Given the description of an element on the screen output the (x, y) to click on. 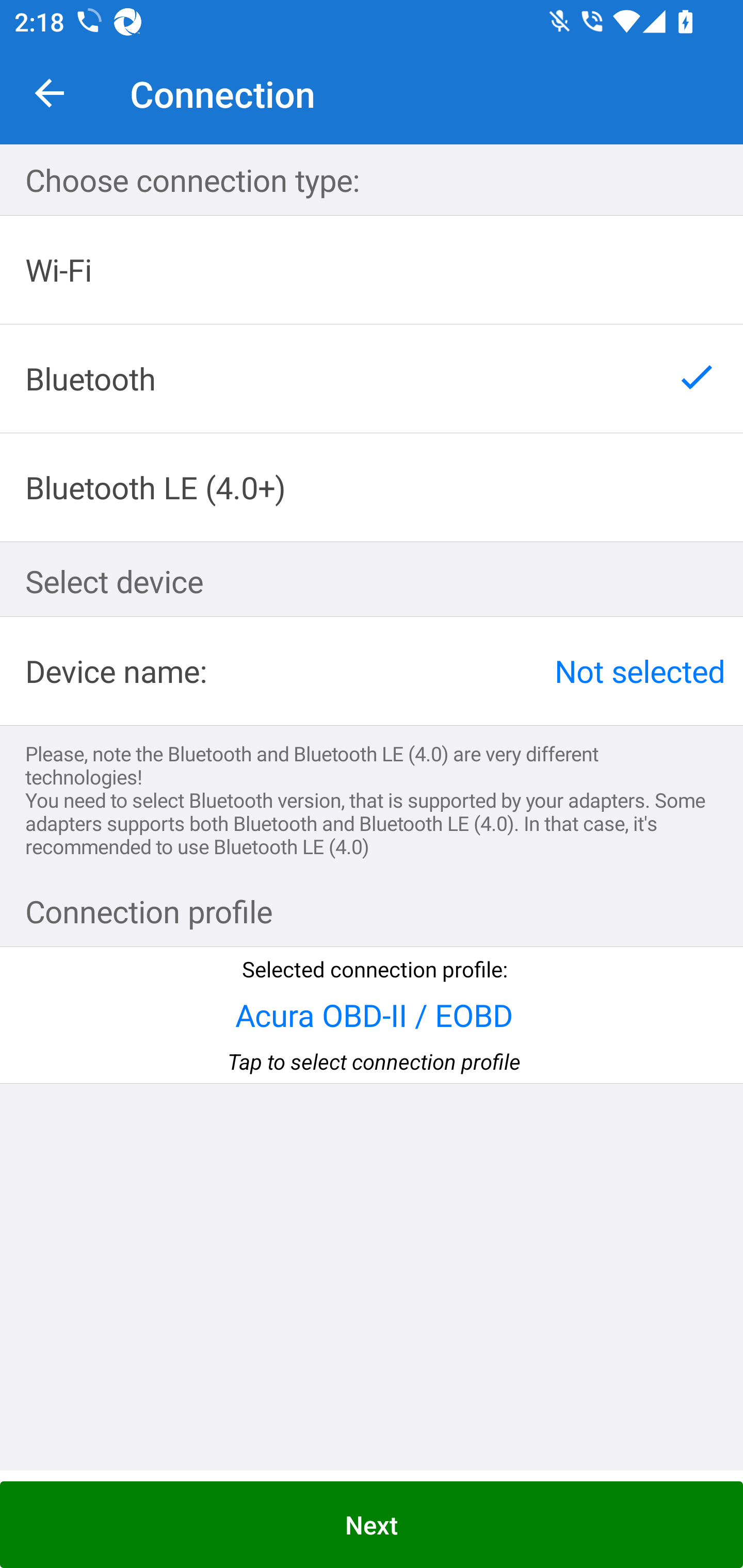
Wi-Fi (371, 270)
Bluetooth (371, 378)
Bluetooth LE (4.0+) (371, 486)
Device name: Not selected (371, 670)
Next (371, 1524)
